Given the description of an element on the screen output the (x, y) to click on. 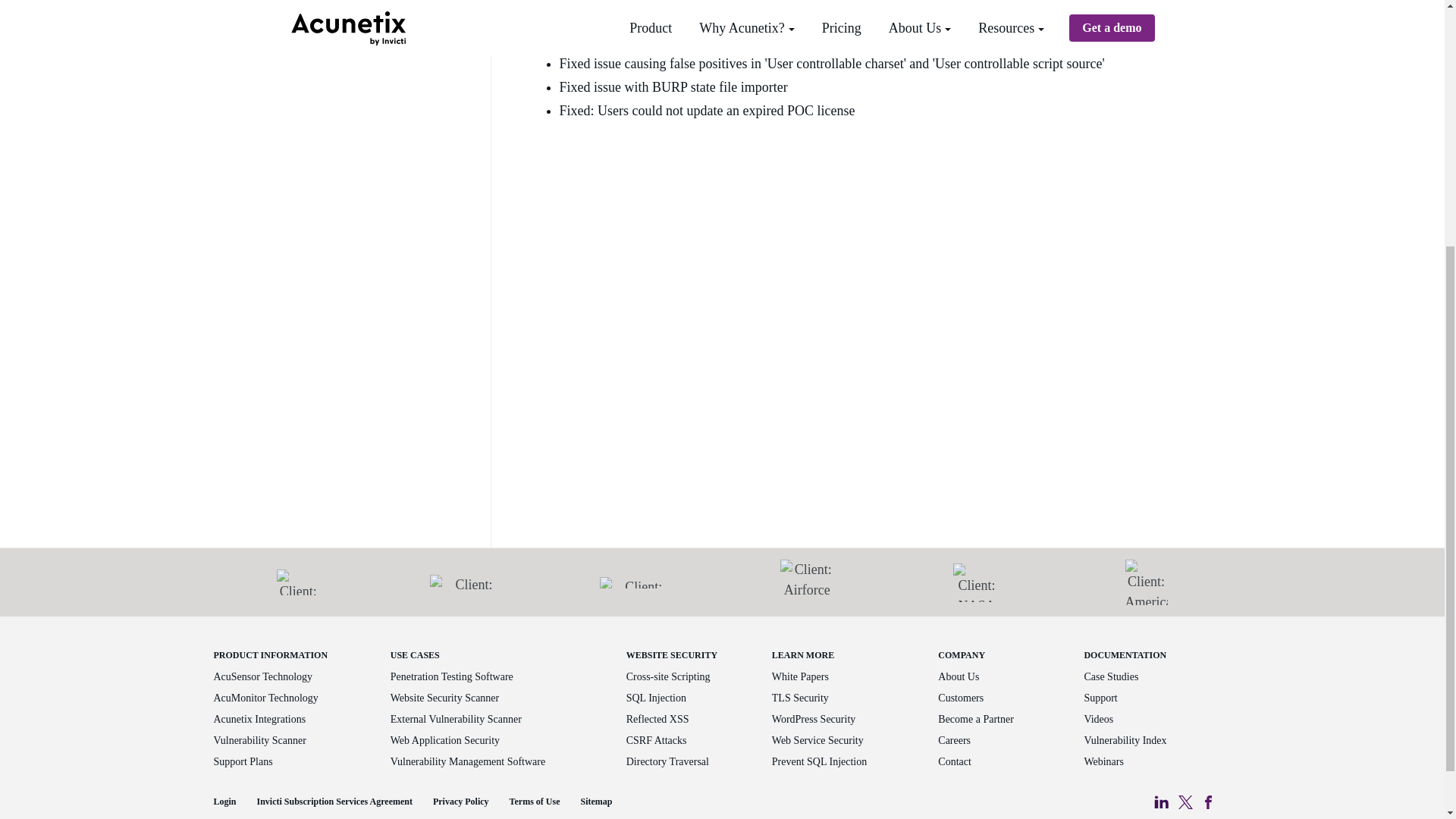
Vulnerability Management Software (467, 761)
Support Plans (243, 761)
Website Security Scanner (444, 697)
Client: Airforce (807, 582)
AcuSensor Technology (263, 676)
Client: Cognizant (467, 581)
Web Application Security (444, 740)
Client: NASA (976, 582)
Client: Garmin (637, 582)
Client: AWS (297, 582)
Client: American Express (1146, 582)
Cross-site Scripting (668, 676)
External Vulnerability Scanner (455, 718)
Penetration Testing Software (451, 676)
AcuMonitor Technology (266, 697)
